Given the description of an element on the screen output the (x, y) to click on. 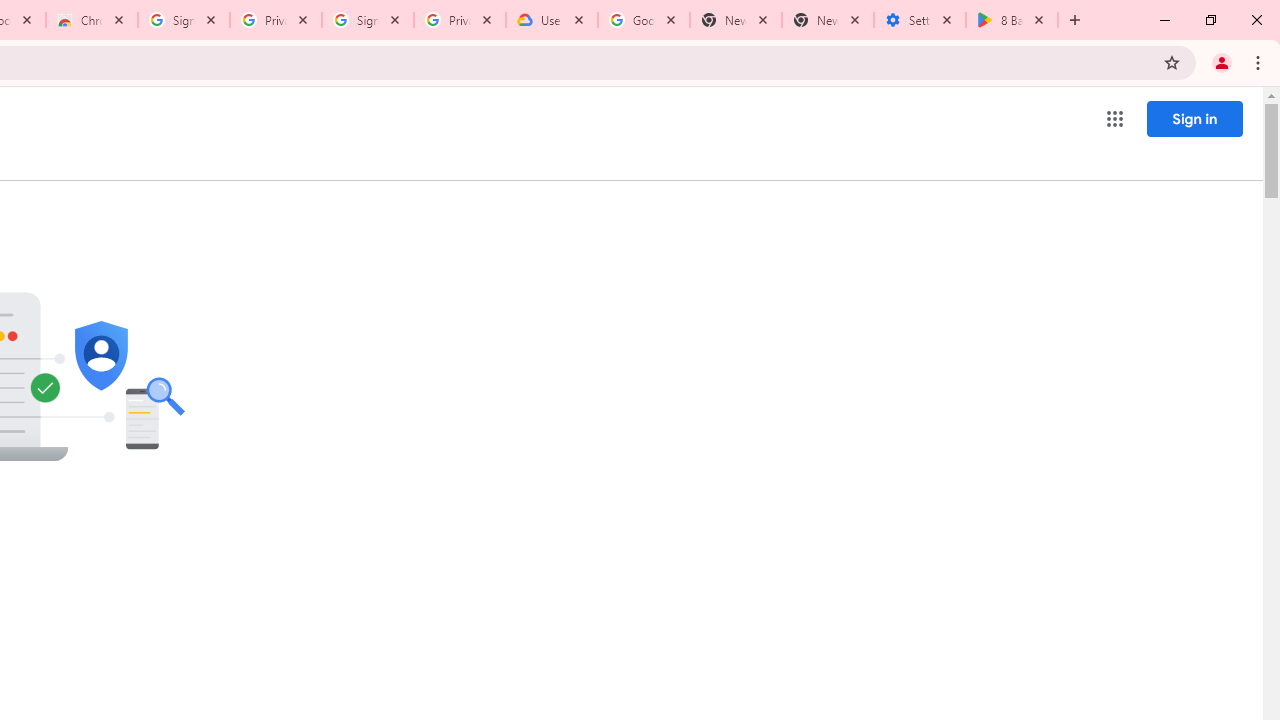
Settings - System (920, 20)
Sign in - Google Accounts (184, 20)
